Given the description of an element on the screen output the (x, y) to click on. 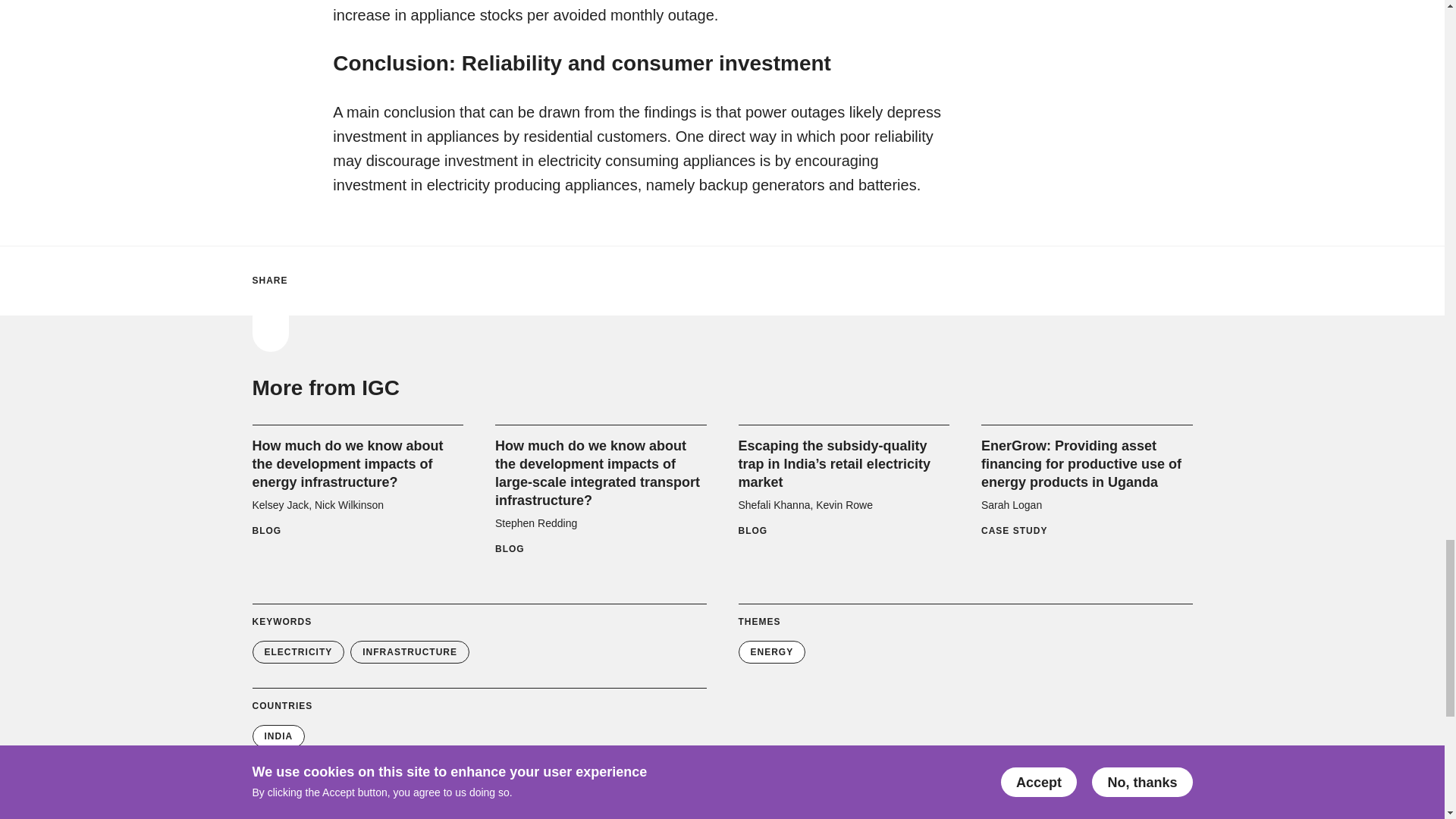
Share with Whatsapp (400, 281)
Share with email (431, 280)
Share on Twitter (309, 280)
Share on Facebook (340, 281)
